Given the description of an element on the screen output the (x, y) to click on. 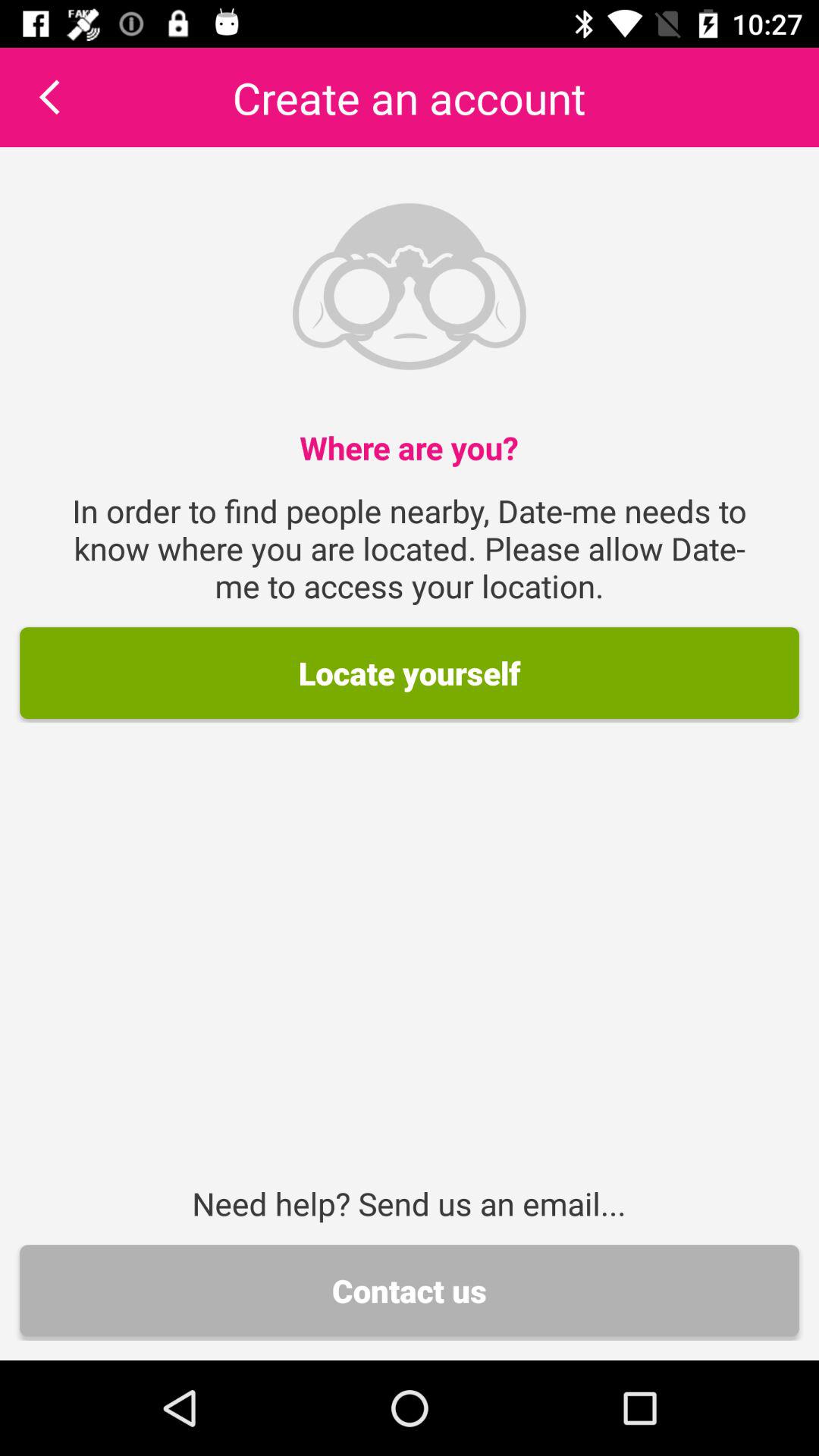
turn off contact us icon (409, 1290)
